Given the description of an element on the screen output the (x, y) to click on. 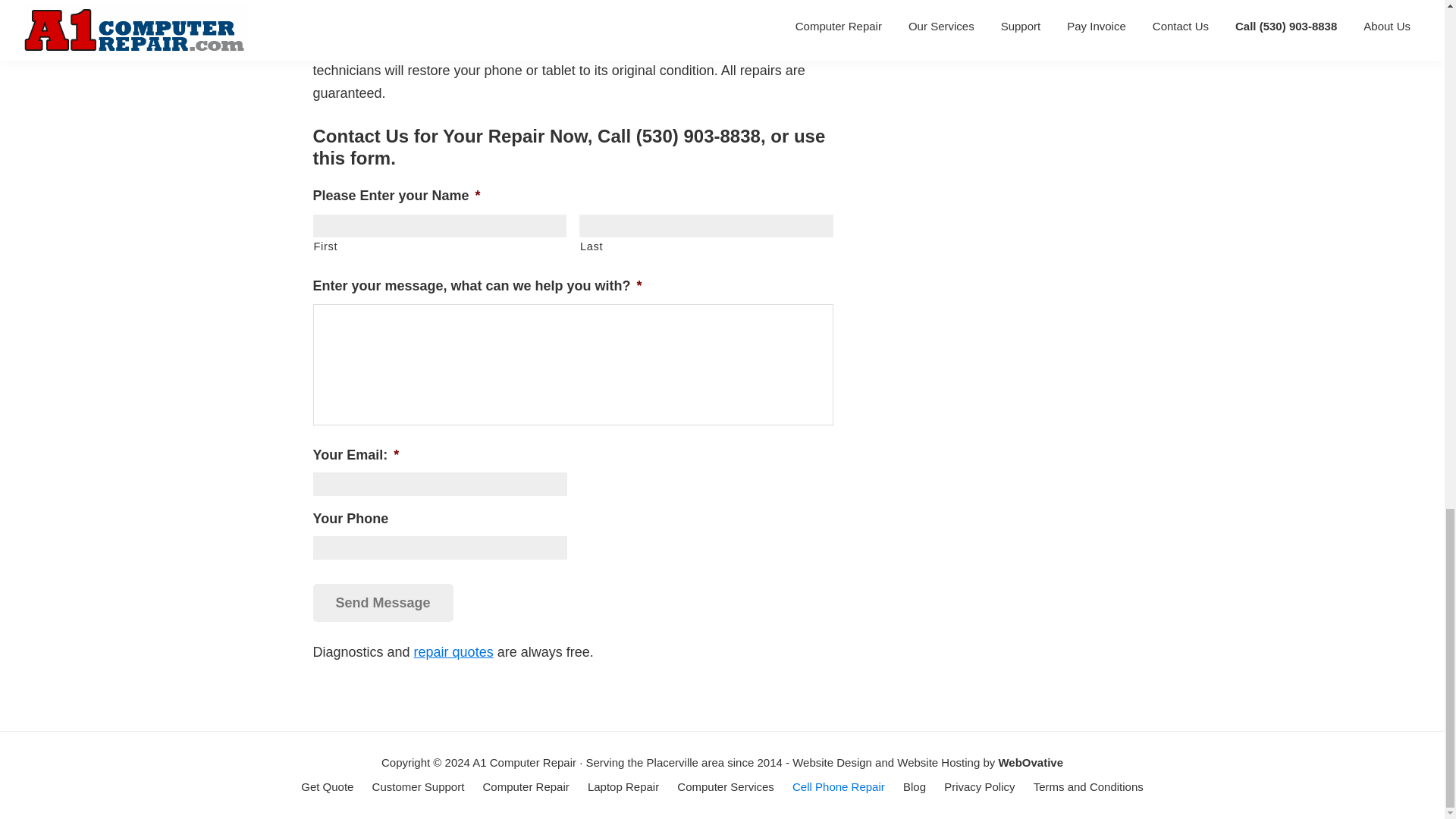
Send Message (382, 602)
Send Message (382, 602)
